Given the description of an element on the screen output the (x, y) to click on. 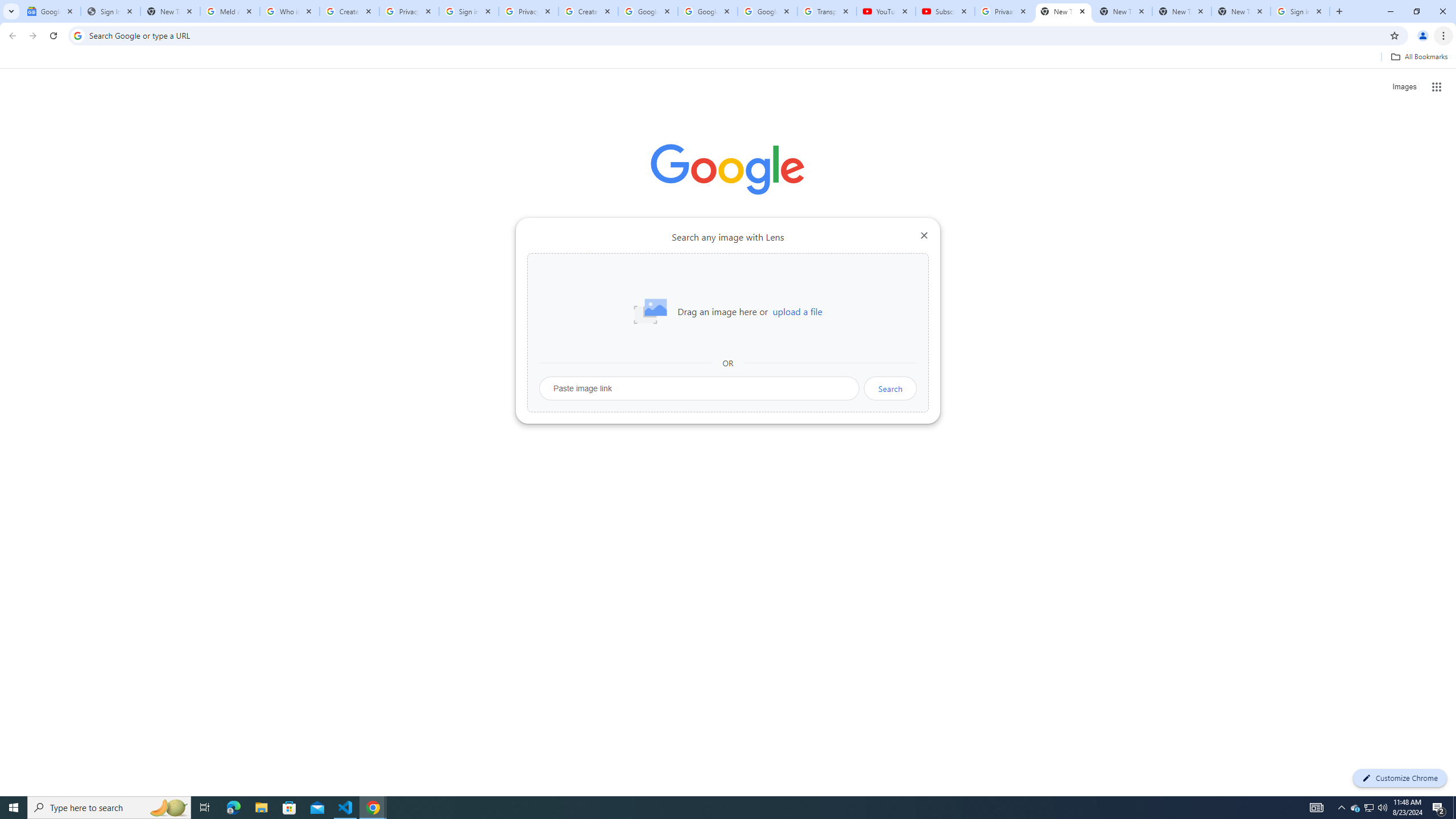
Google Account (767, 11)
Subscriptions - YouTube (944, 11)
Sign in - Google Accounts (1300, 11)
Create your Google Account (588, 11)
upload a file (796, 311)
More actions for Chrome Web Store shortcut (686, 265)
More actions for Sign in shortcut (814, 265)
